Given the description of an element on the screen output the (x, y) to click on. 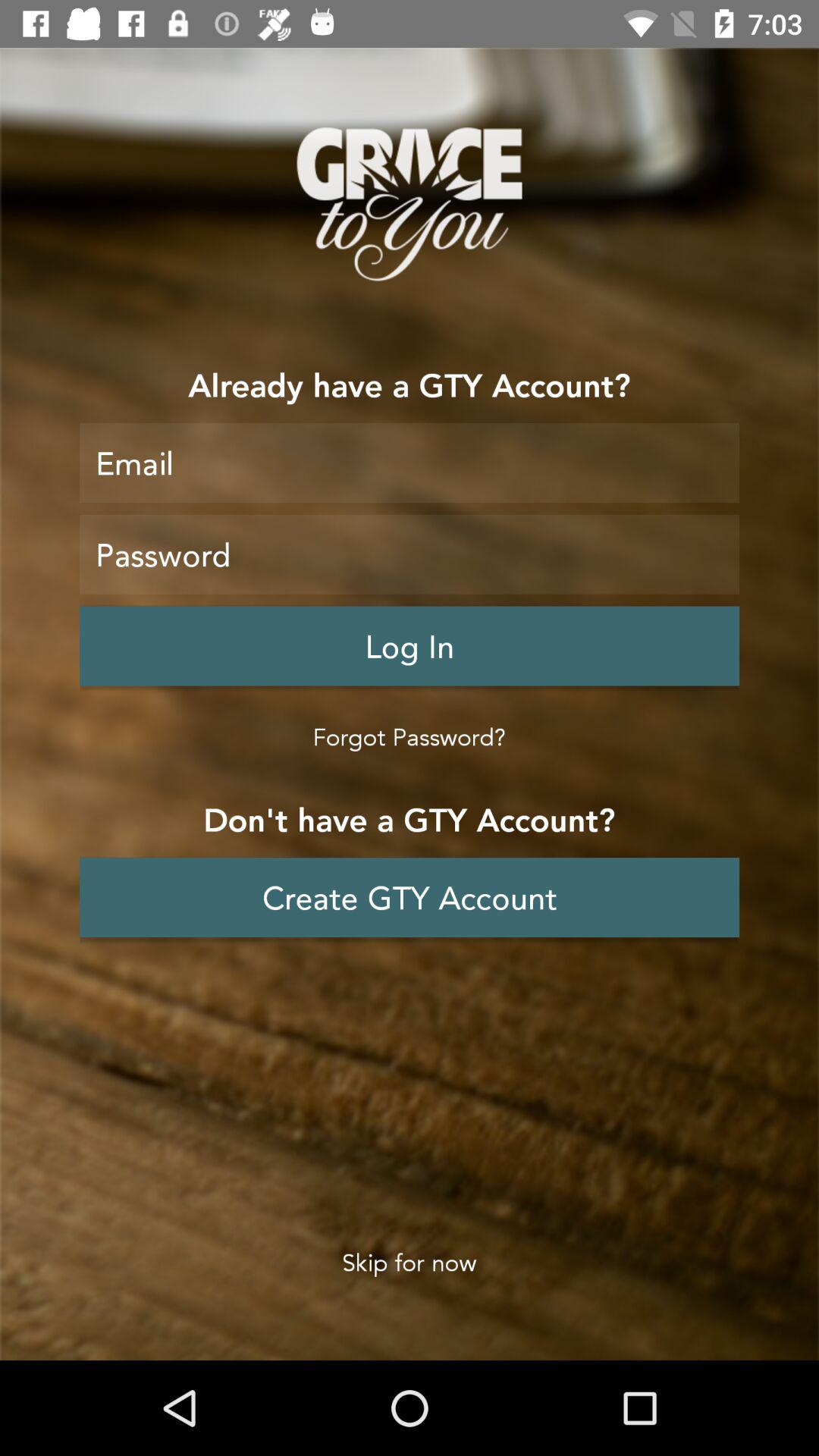
type the password (409, 554)
